Given the description of an element on the screen output the (x, y) to click on. 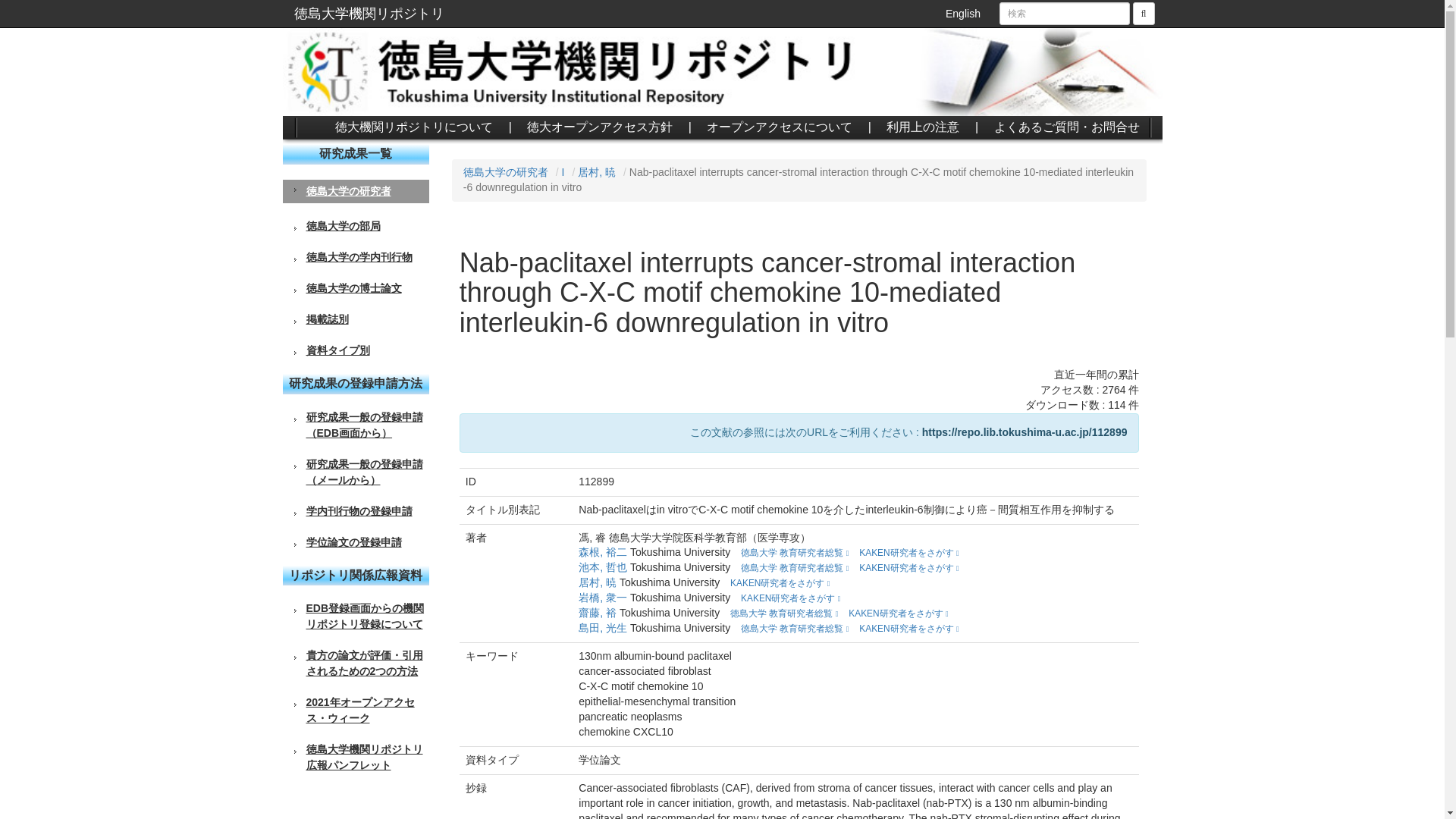
English (962, 13)
